Given the description of an element on the screen output the (x, y) to click on. 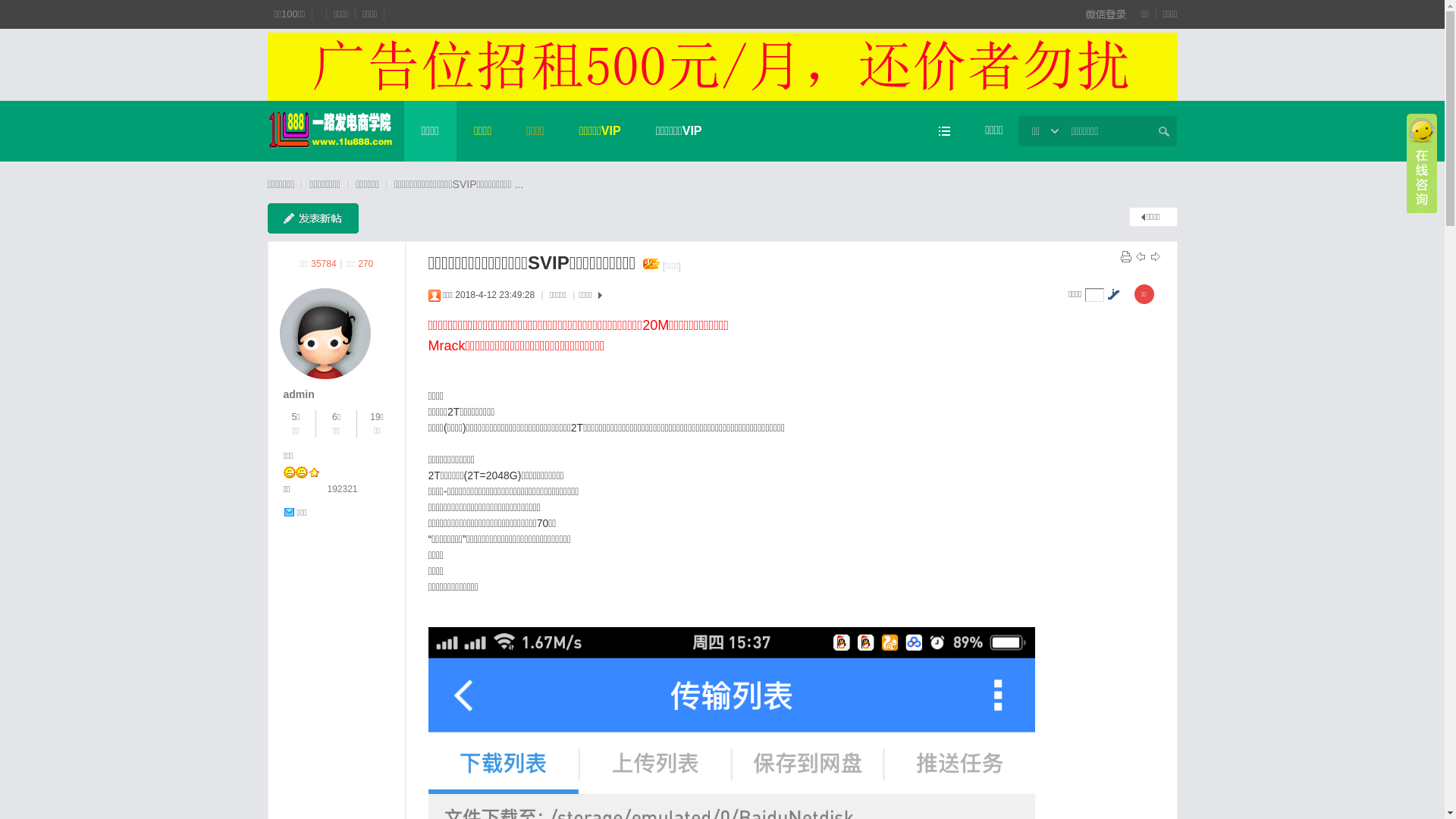
admin Element type: text (298, 394)
true Element type: text (1163, 131)
192321 Element type: text (342, 488)
!tabopen! Element type: hover (1421, 163)
